Given the description of an element on the screen output the (x, y) to click on. 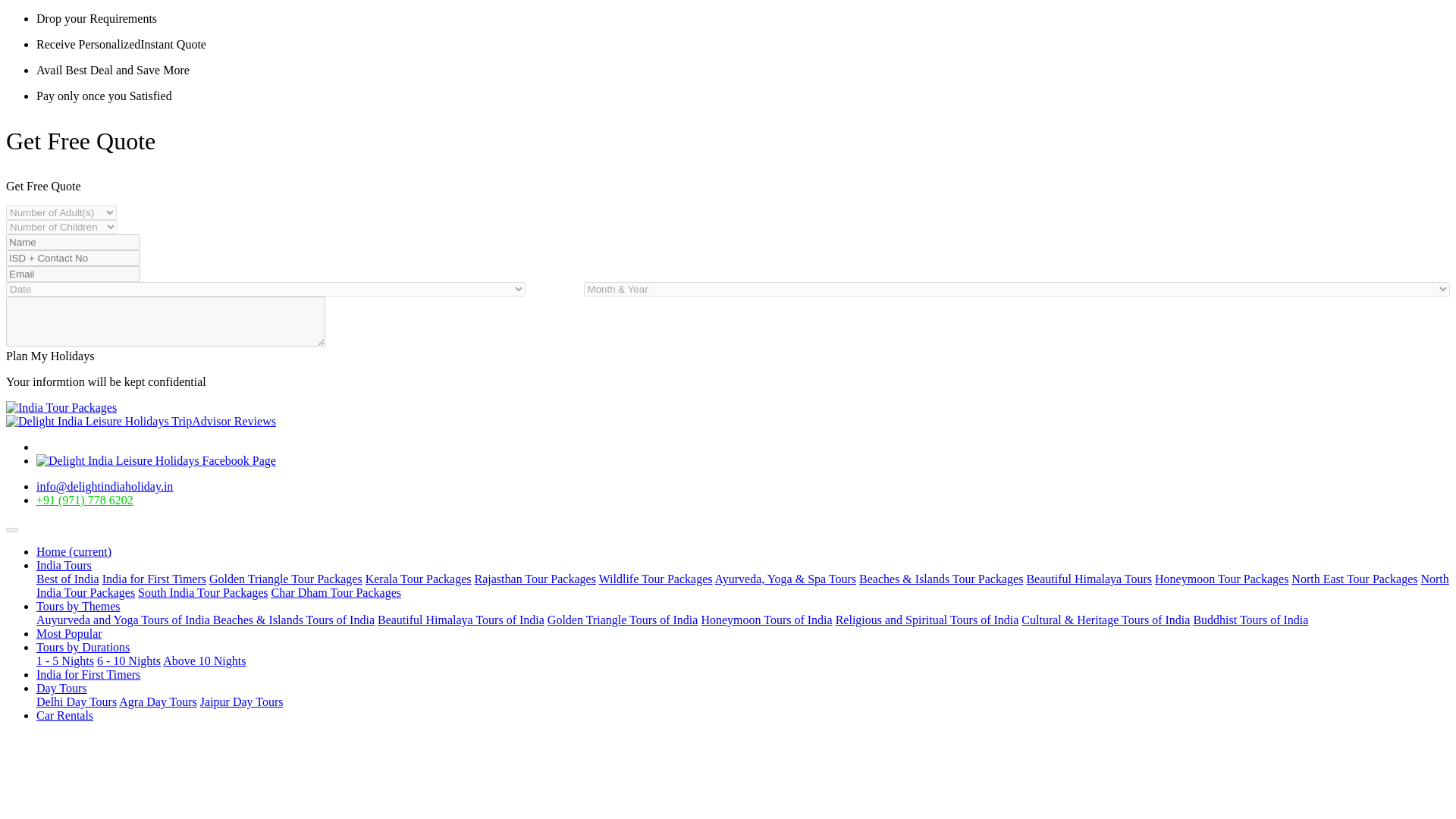
Auyurveda and Yoga Tours of India (124, 619)
India for First Timers (87, 674)
Honeymoon Tour Packages (1221, 578)
Beautiful Himalaya Tours of India (460, 619)
Buddhist Tours of India (1249, 619)
Kerala Tour Packages (418, 578)
India Tours (63, 564)
Tours by Themes (78, 605)
Plan My Holidays (49, 355)
Delight India Leisure Holidays Facebook Page (156, 460)
Honeymoon Tours of India (765, 619)
Best of India (67, 578)
Rajasthan Tour Packages (534, 578)
Most Popular (68, 633)
Wildlife Tour Packages (655, 578)
